Given the description of an element on the screen output the (x, y) to click on. 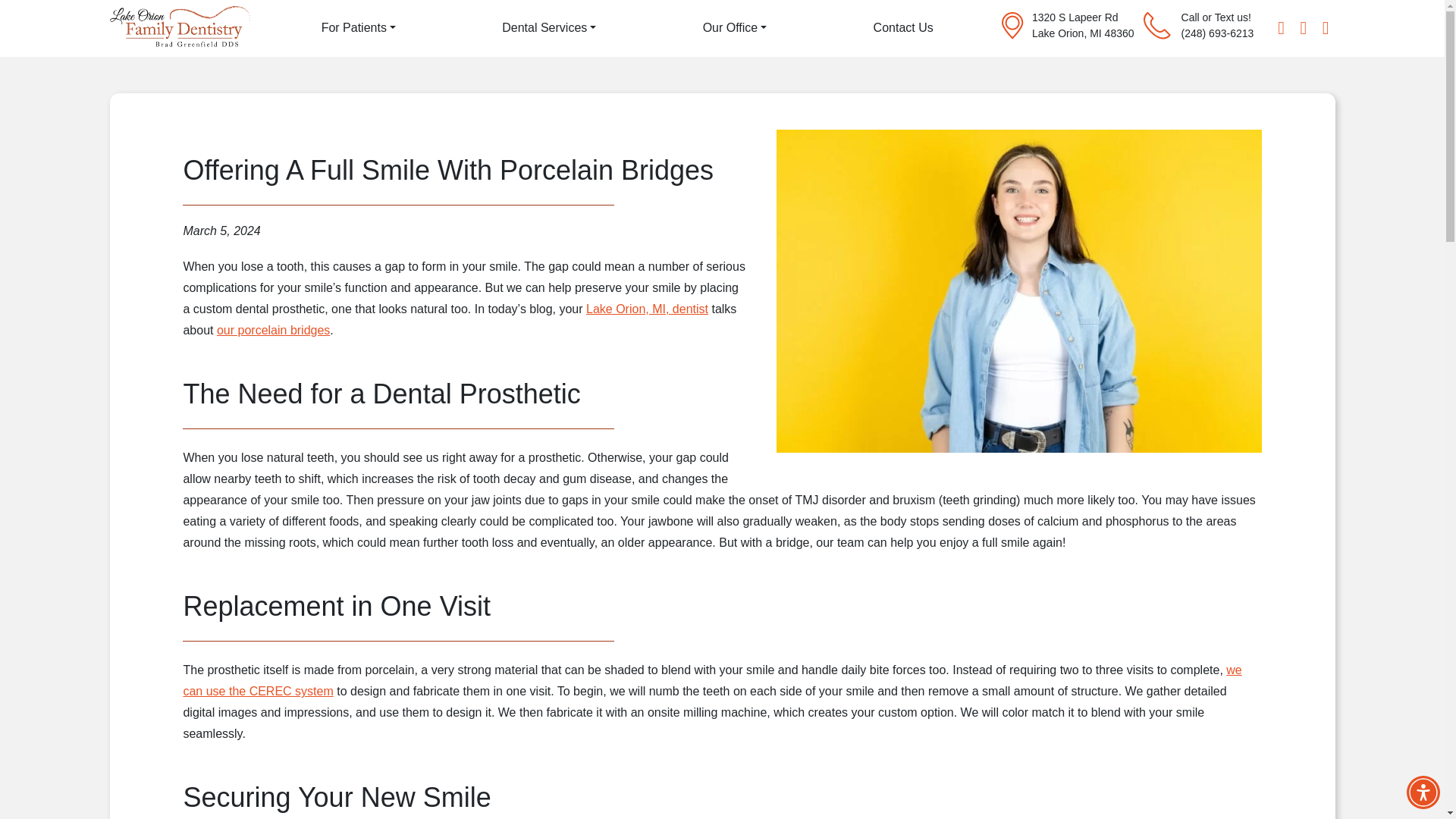
Dental Services (548, 27)
Dental Services (548, 27)
Contact Us (903, 27)
For Patients (358, 27)
For Patients (358, 27)
Our Office (735, 27)
Accessibility Menu (1422, 792)
